Given the description of an element on the screen output the (x, y) to click on. 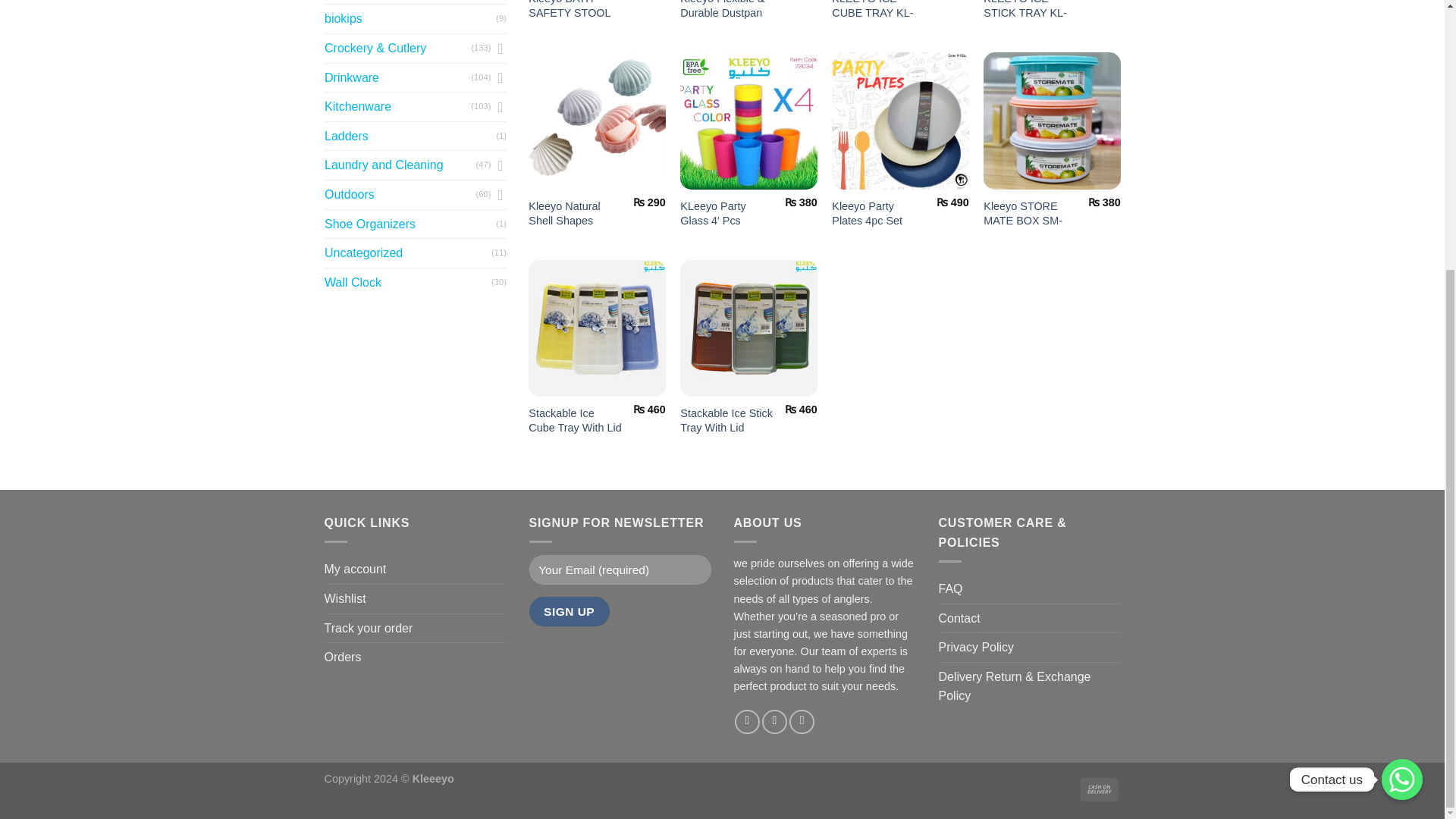
Sign Up (569, 611)
